Given the description of an element on the screen output the (x, y) to click on. 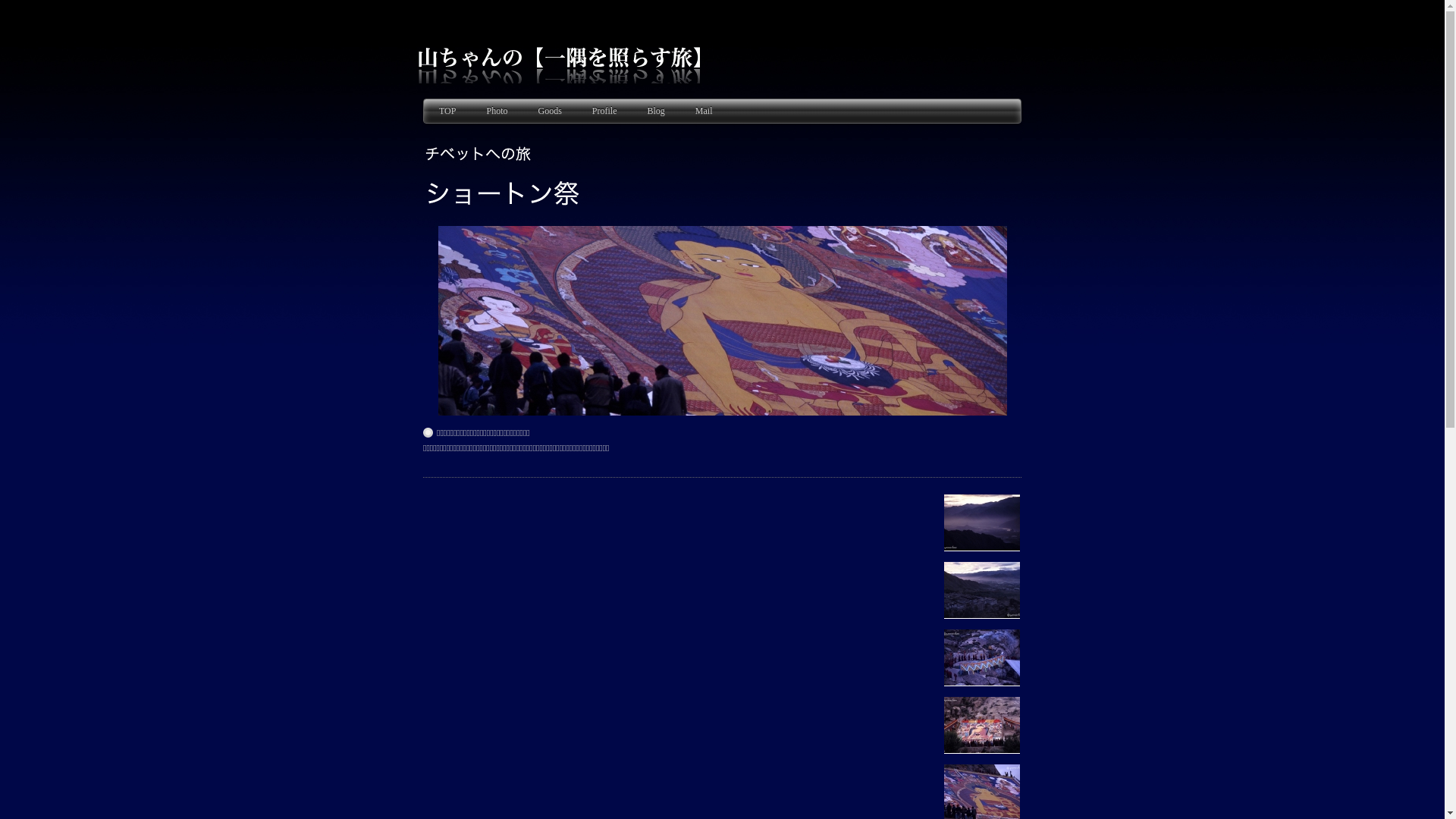
Goods Element type: text (549, 110)
Mail Element type: text (704, 110)
Photo Element type: text (496, 110)
Blog Element type: text (655, 110)
TOP Element type: text (446, 110)
Profile Element type: text (604, 110)
